Given the description of an element on the screen output the (x, y) to click on. 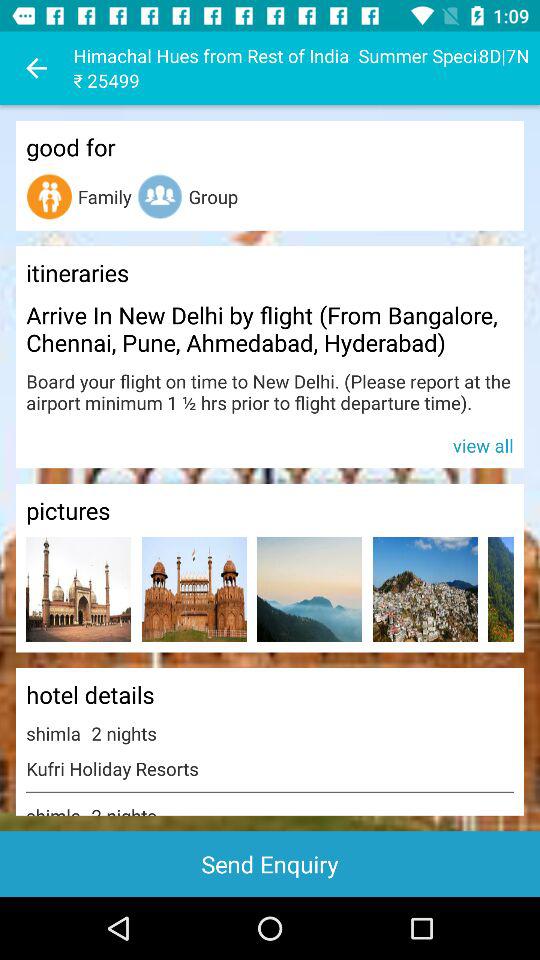
choose app below shimla (270, 863)
